Given the description of an element on the screen output the (x, y) to click on. 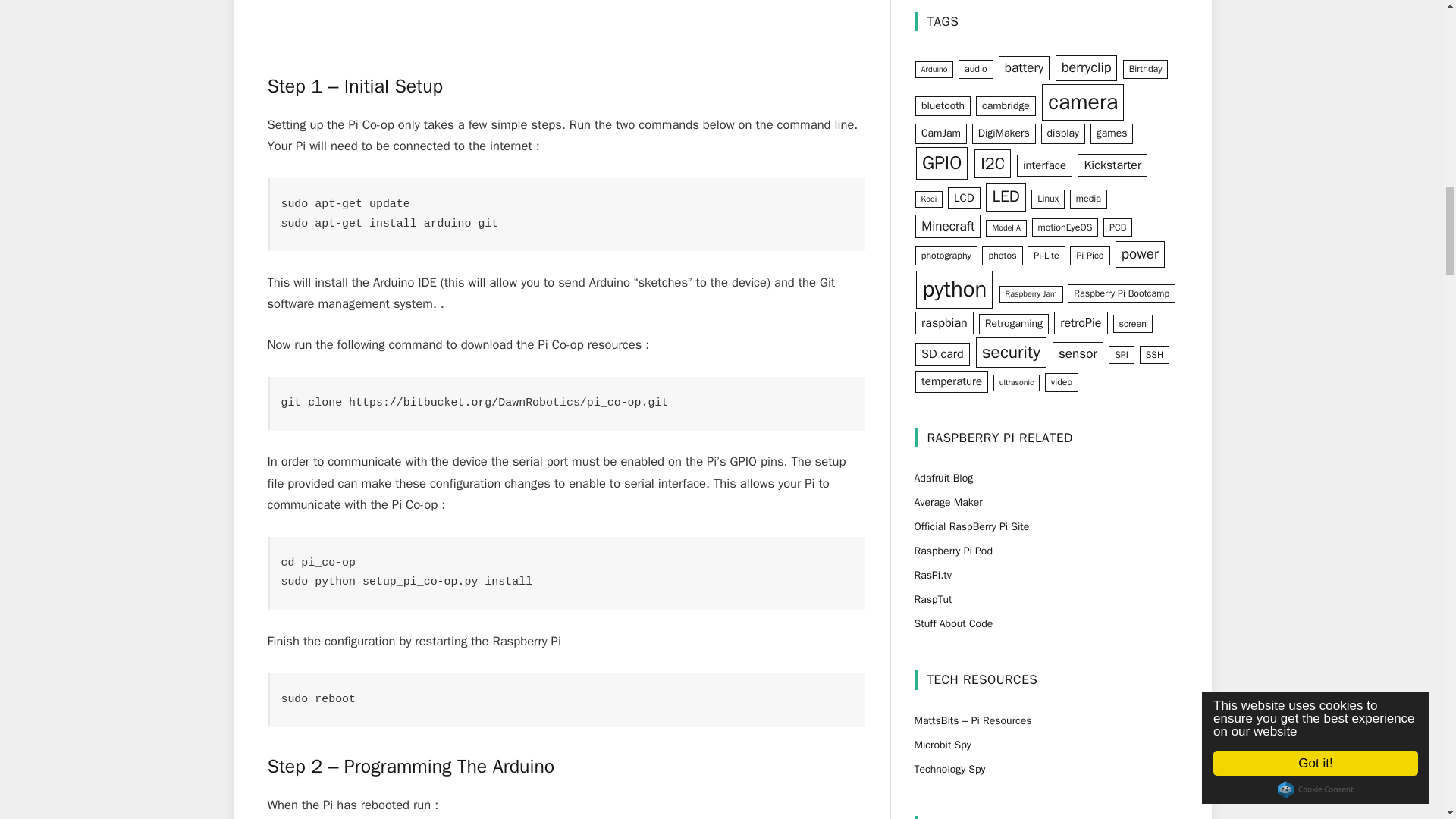
The Pi Co-op - A Raspberry Pi Arduino Add-on Board (565, 22)
